Given the description of an element on the screen output the (x, y) to click on. 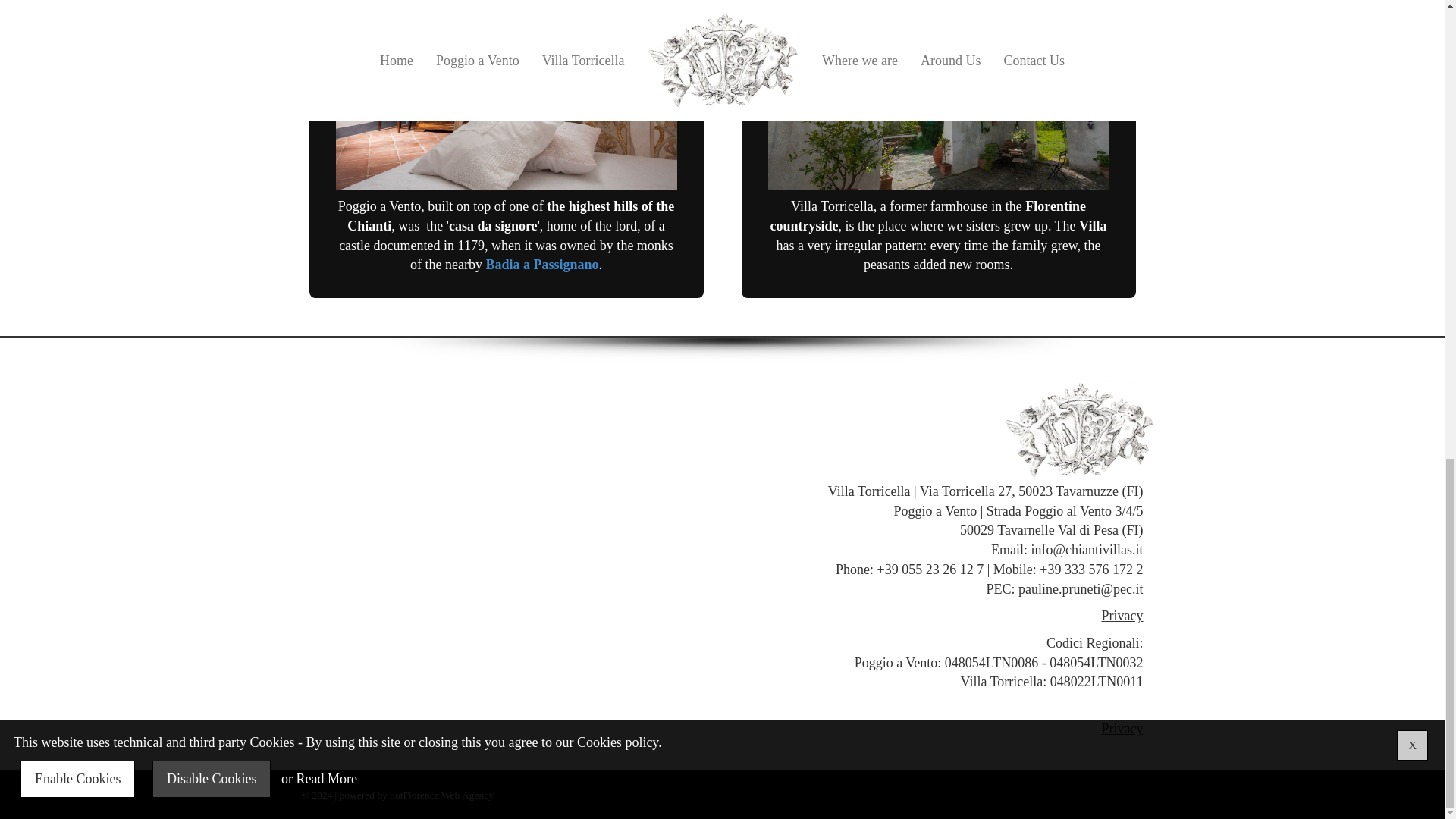
dotFlorence Web Agency (441, 794)
Badia a Passignano (541, 264)
Privacy (1122, 615)
Privacy (1122, 728)
